Given the description of an element on the screen output the (x, y) to click on. 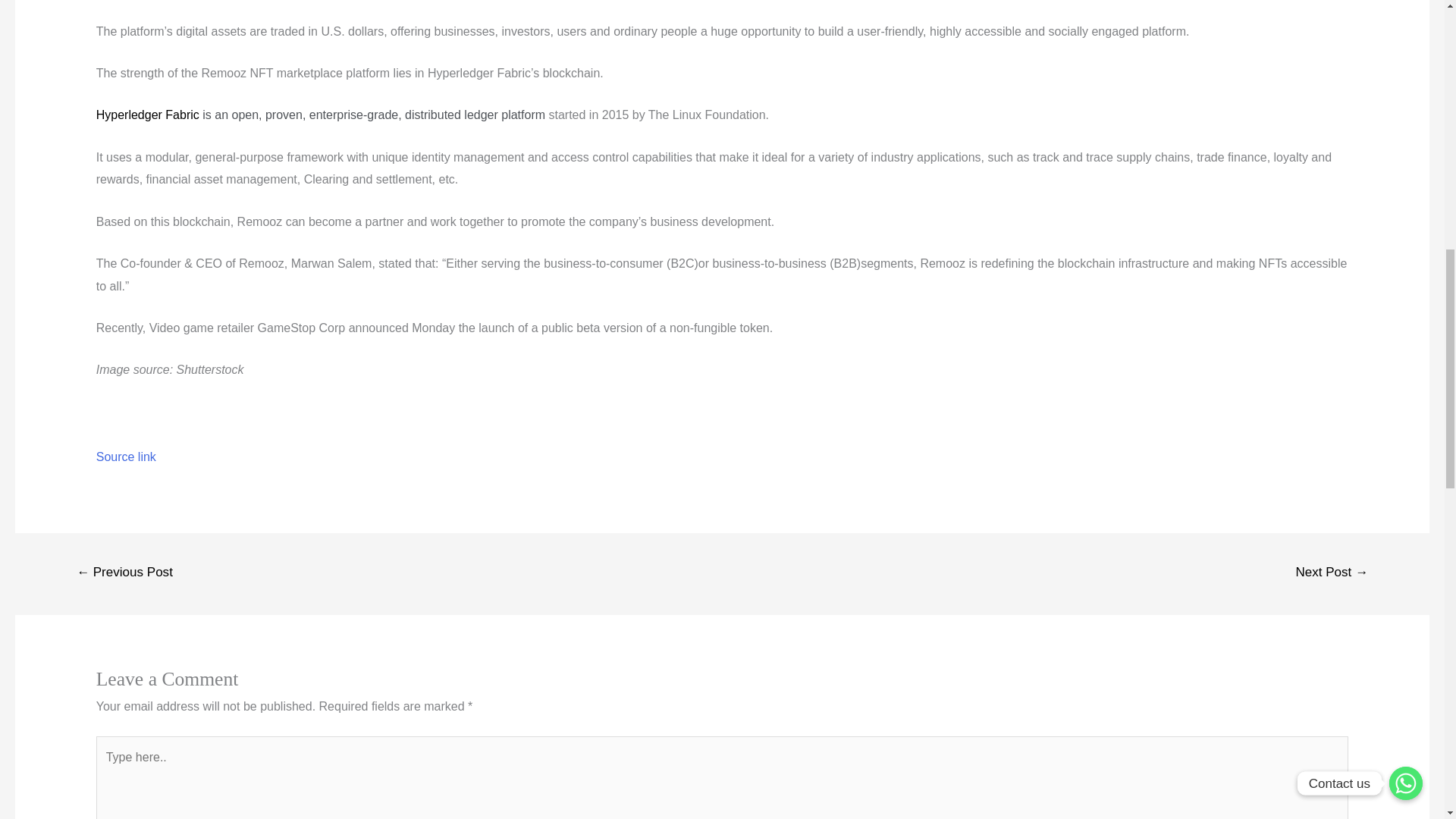
Source link (125, 456)
